Given the description of an element on the screen output the (x, y) to click on. 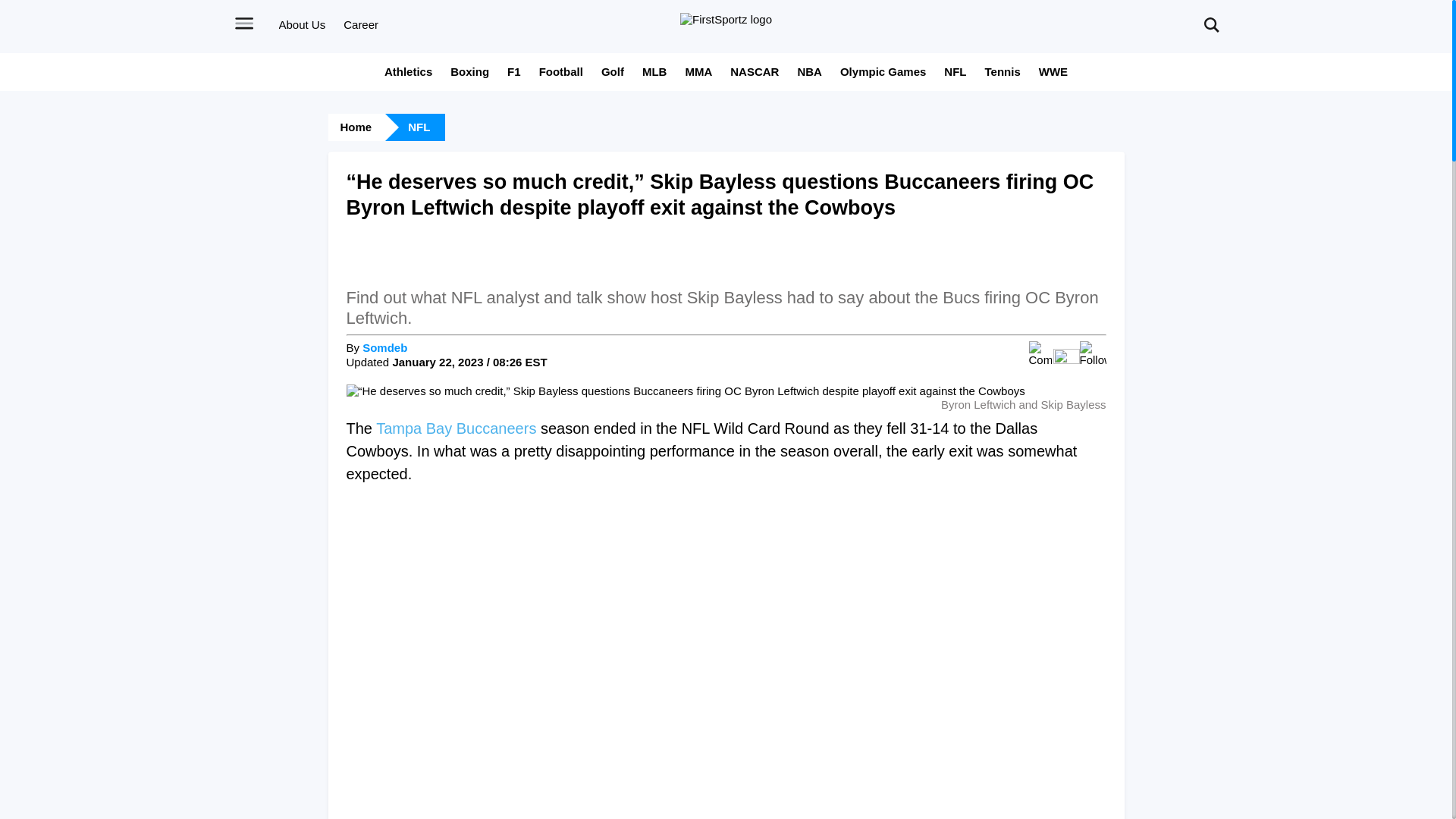
Golf (612, 71)
MLB (654, 71)
FirstSportz (725, 19)
WWE (1053, 71)
NBA (809, 71)
Boxing (469, 71)
Football (560, 71)
F1 (513, 71)
Olympic Games (883, 71)
NFL (954, 71)
